Given the description of an element on the screen output the (x, y) to click on. 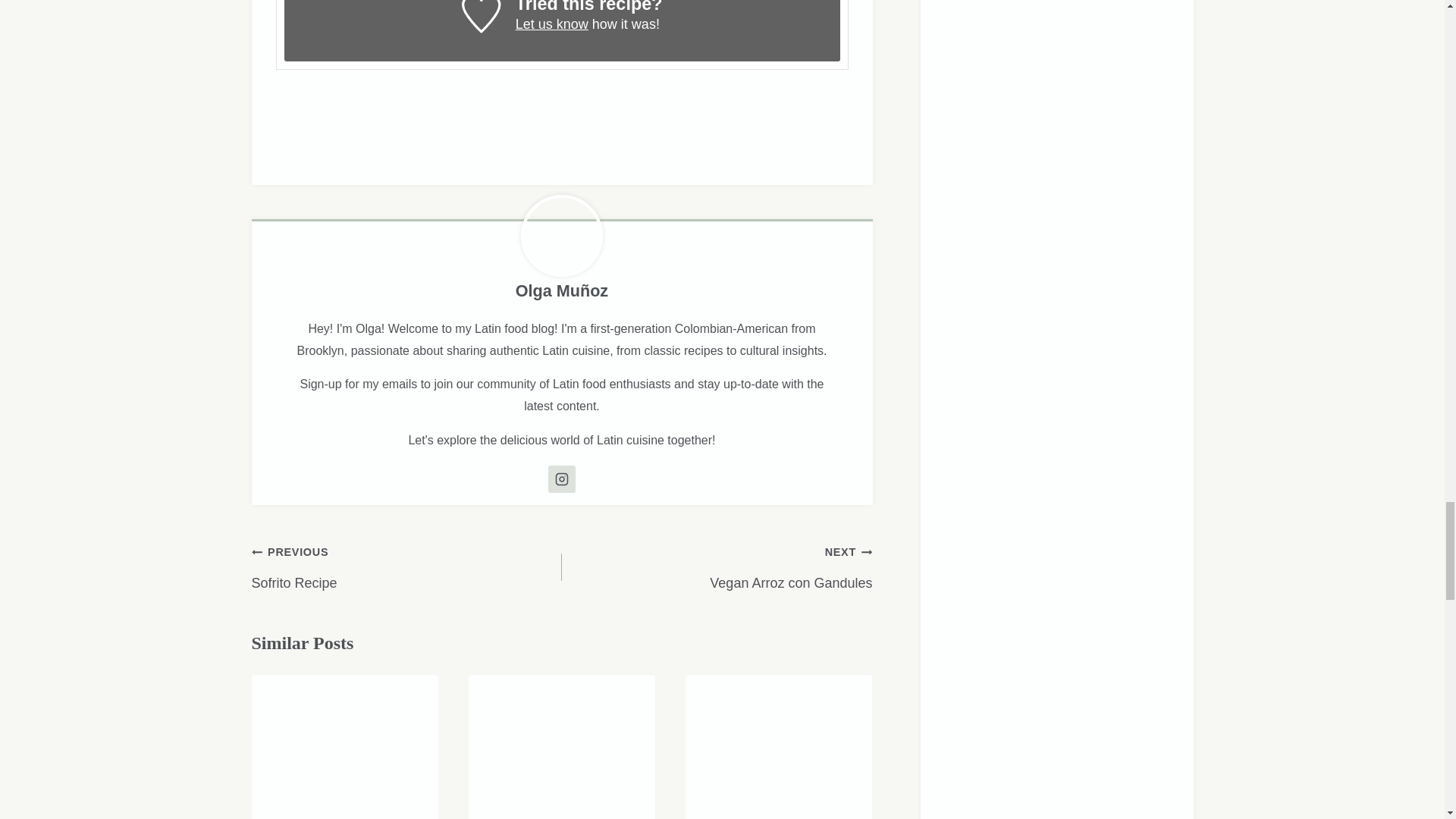
Let us know (551, 23)
